Given the description of an element on the screen output the (x, y) to click on. 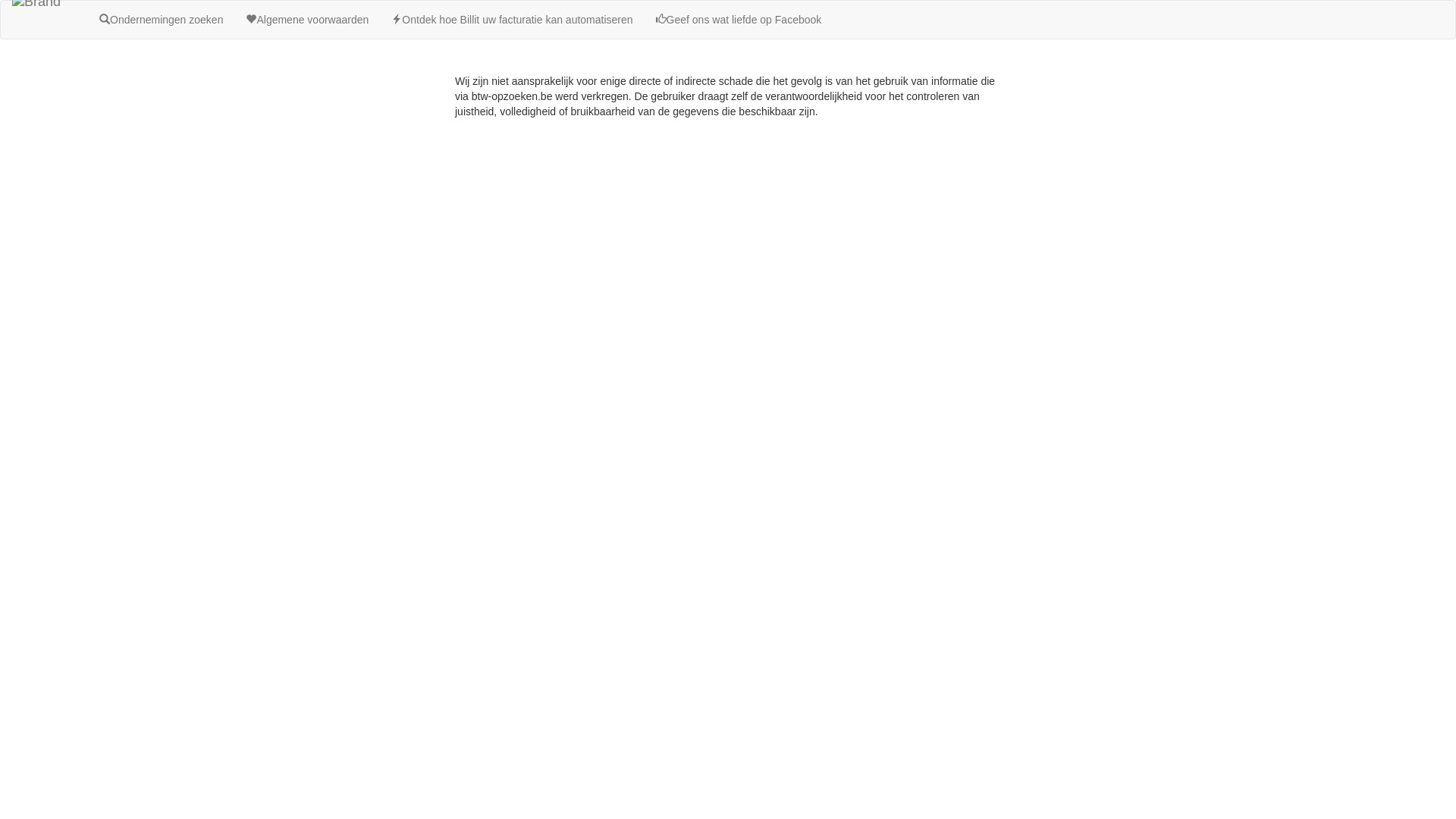
Algemene voorwaarden Element type: text (306, 19)
Ondernemingen zoeken
(current) Element type: text (160, 19)
Ontdek hoe Billit uw facturatie kan automatiseren Element type: text (511, 19)
Geef ons wat liefde op Facebook Element type: text (738, 19)
